Given the description of an element on the screen output the (x, y) to click on. 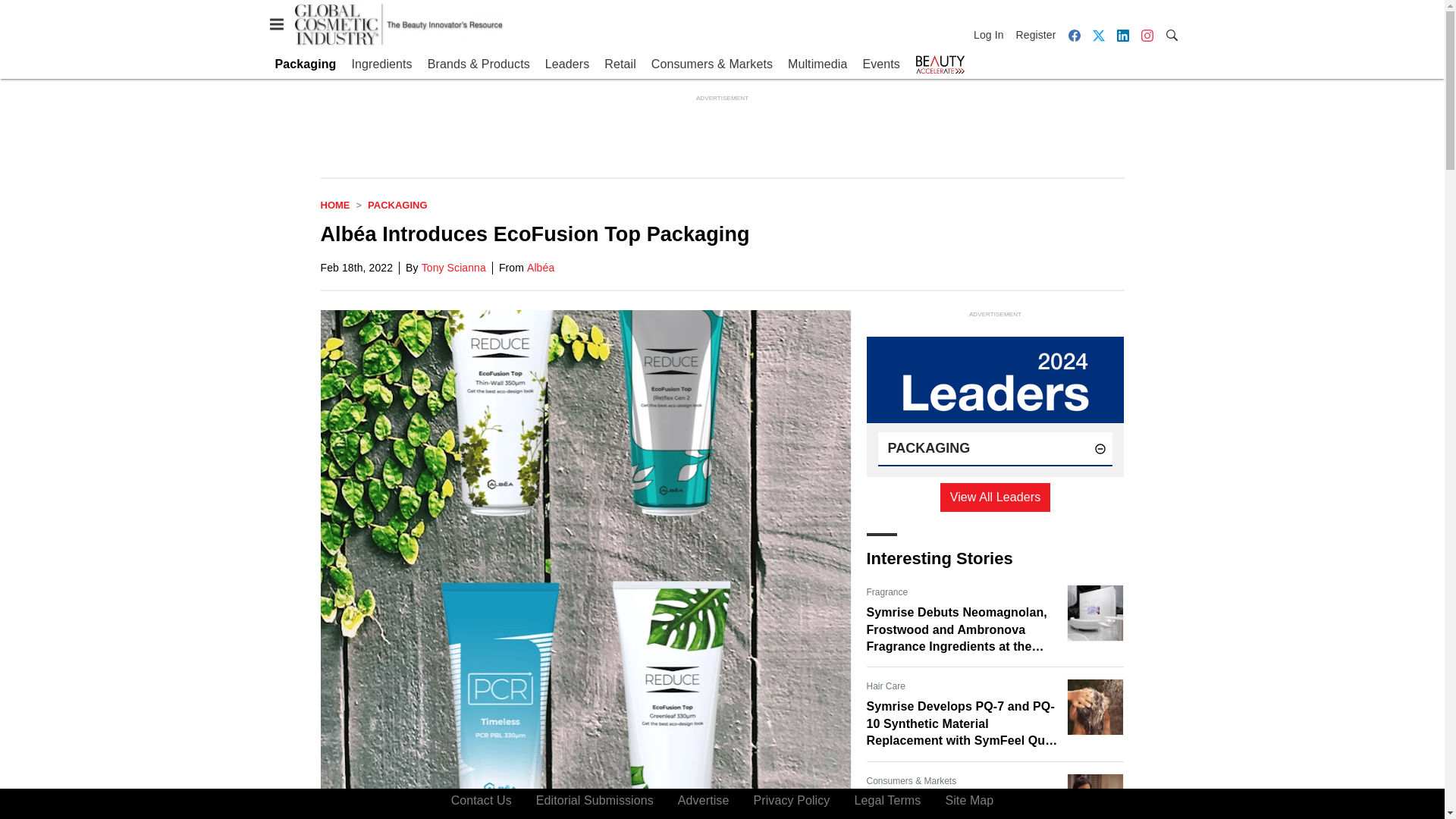
Instagram icon (1146, 35)
Leaders (566, 64)
Events (880, 64)
Multimedia (817, 64)
Twitter X icon (1097, 35)
Search (1170, 33)
Twitter X icon (1097, 35)
Ingredients (381, 64)
LinkedIn icon (1122, 35)
Instagram icon (1146, 35)
Packaging (397, 204)
Packaging (305, 64)
LinkedIn icon (1121, 35)
Beauty Accelerate (940, 64)
Register (1036, 34)
